Given the description of an element on the screen output the (x, y) to click on. 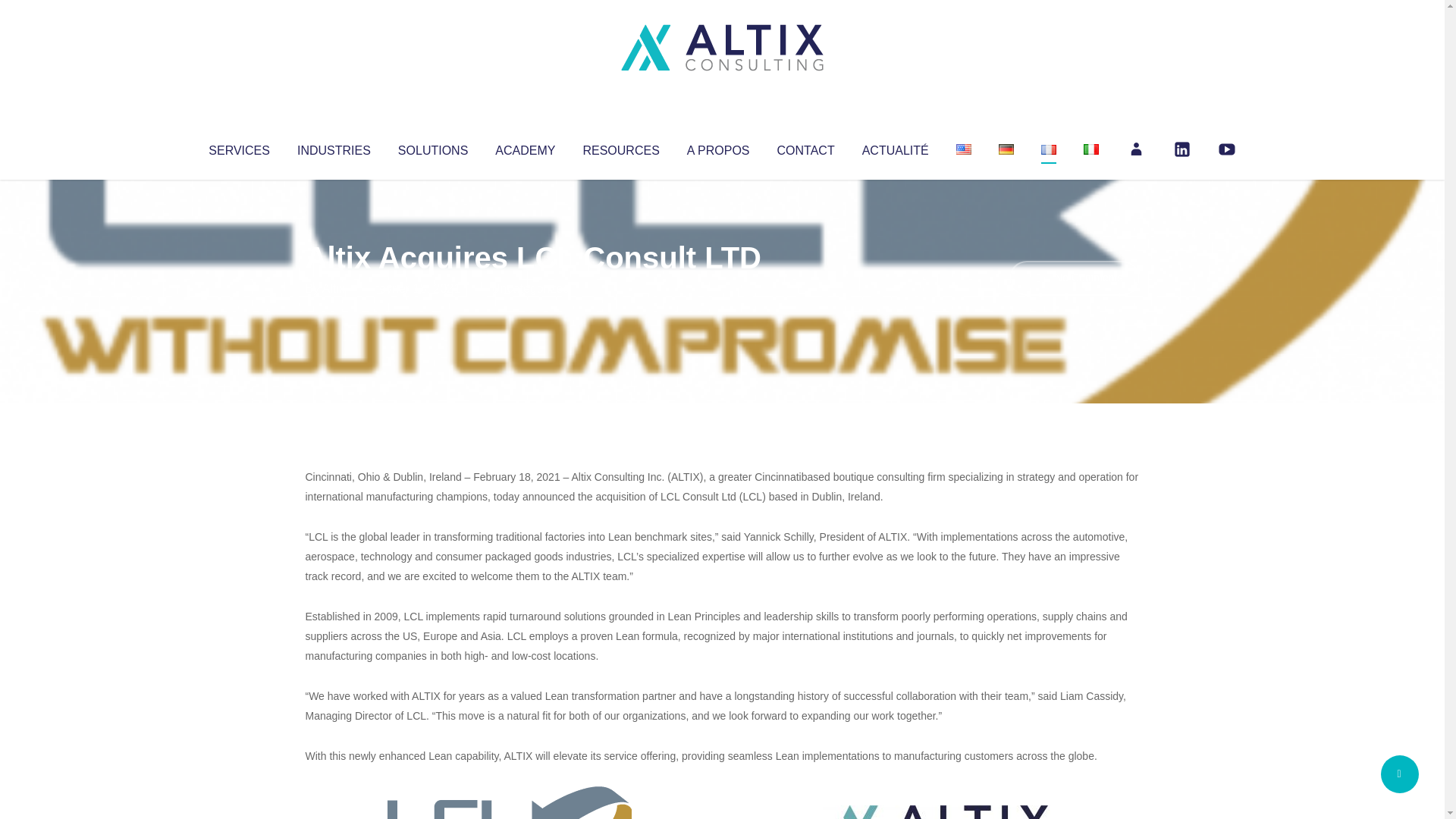
SOLUTIONS (432, 146)
Altix (333, 287)
INDUSTRIES (334, 146)
ACADEMY (524, 146)
Uncategorized (530, 287)
Articles par Altix (333, 287)
No Comments (1073, 278)
RESOURCES (620, 146)
SERVICES (238, 146)
A PROPOS (718, 146)
